Given the description of an element on the screen output the (x, y) to click on. 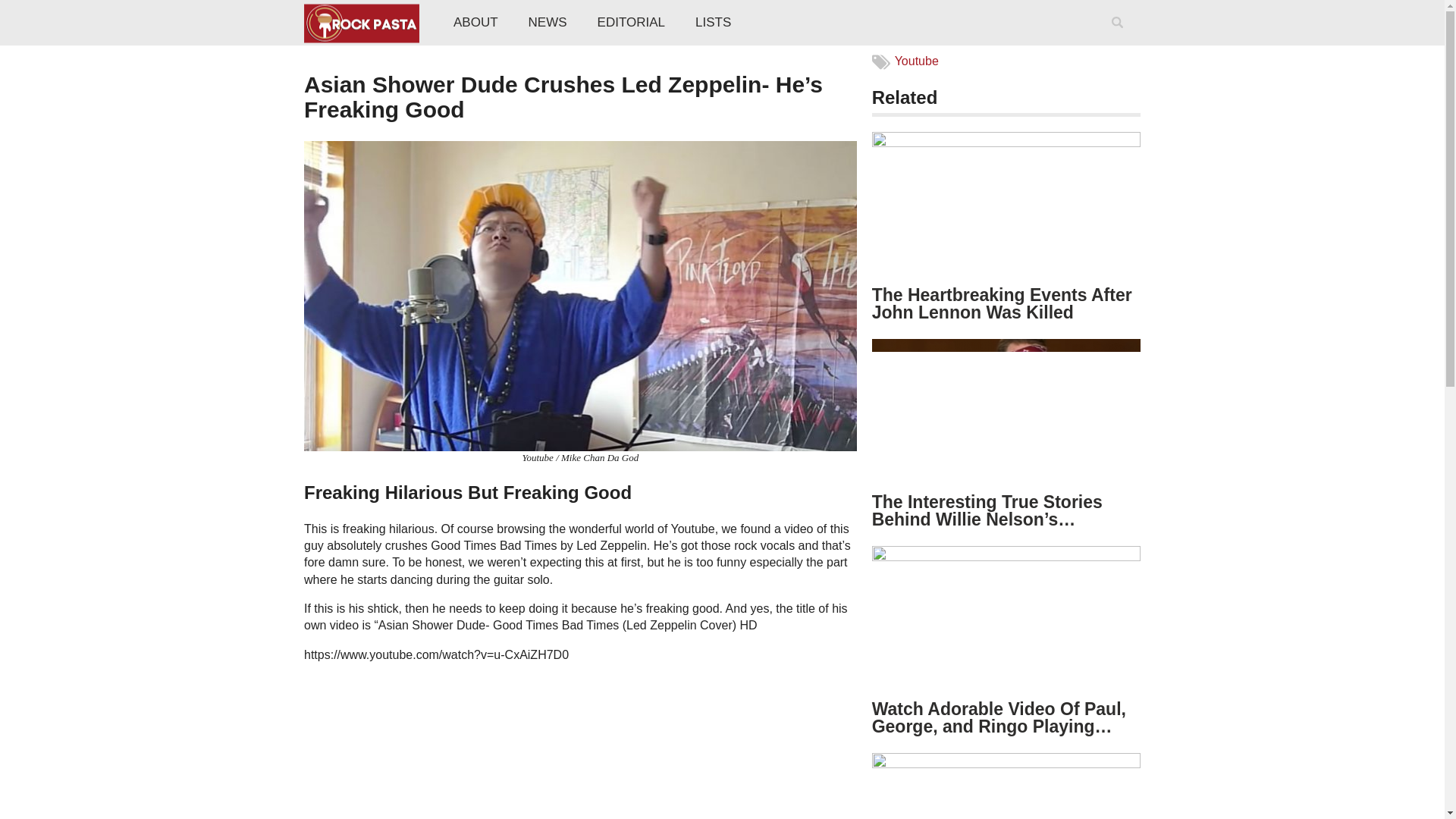
LISTS (712, 22)
NEWS (547, 22)
Search (1120, 42)
Youtube (917, 60)
Search (1120, 42)
Search (1120, 42)
The Heartbreaking Events After John Lennon Was Killed (1002, 303)
ABOUT (475, 22)
EDITORIAL (630, 22)
